Given the description of an element on the screen output the (x, y) to click on. 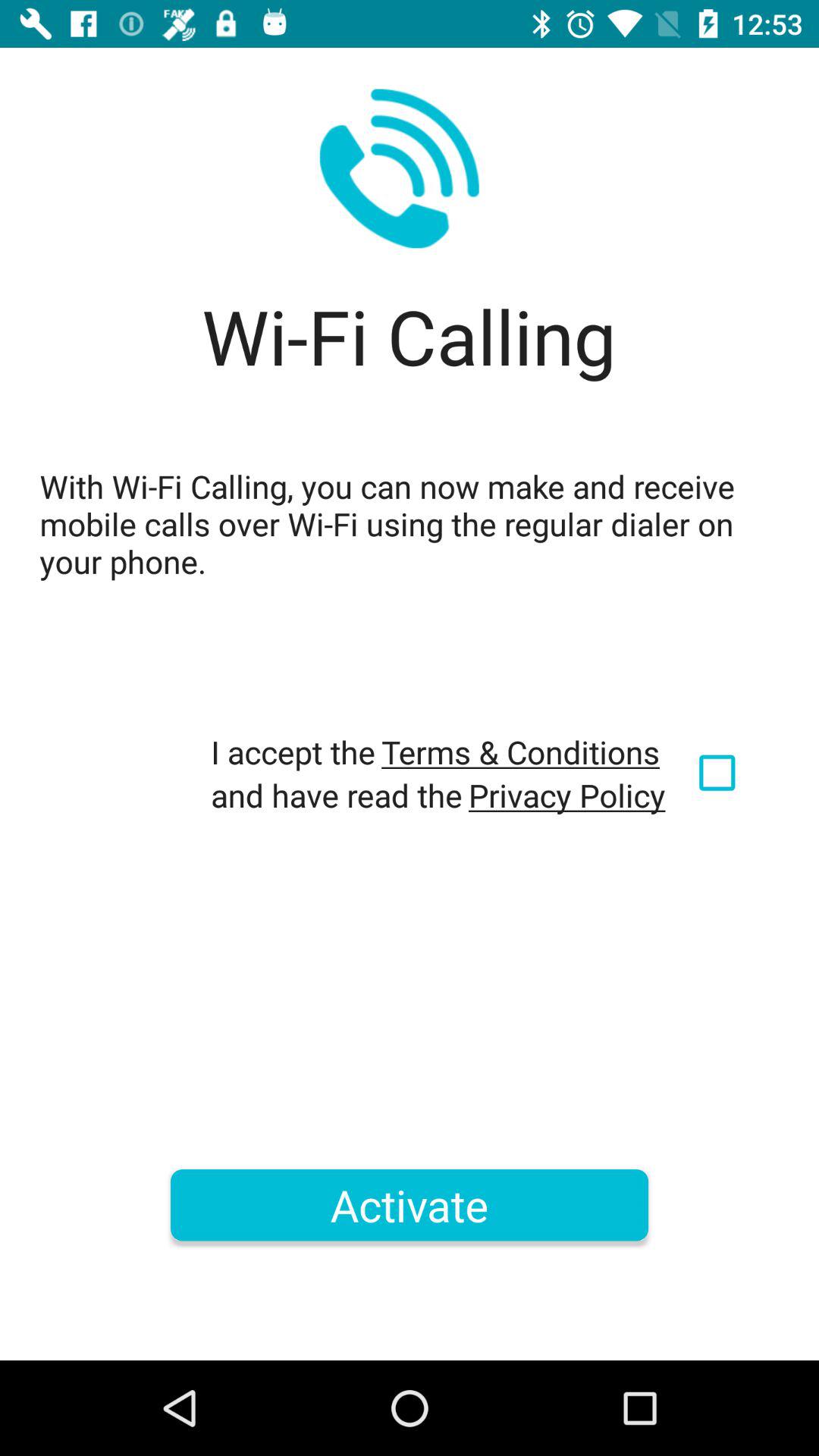
tap icon below the terms & conditions (566, 794)
